Given the description of an element on the screen output the (x, y) to click on. 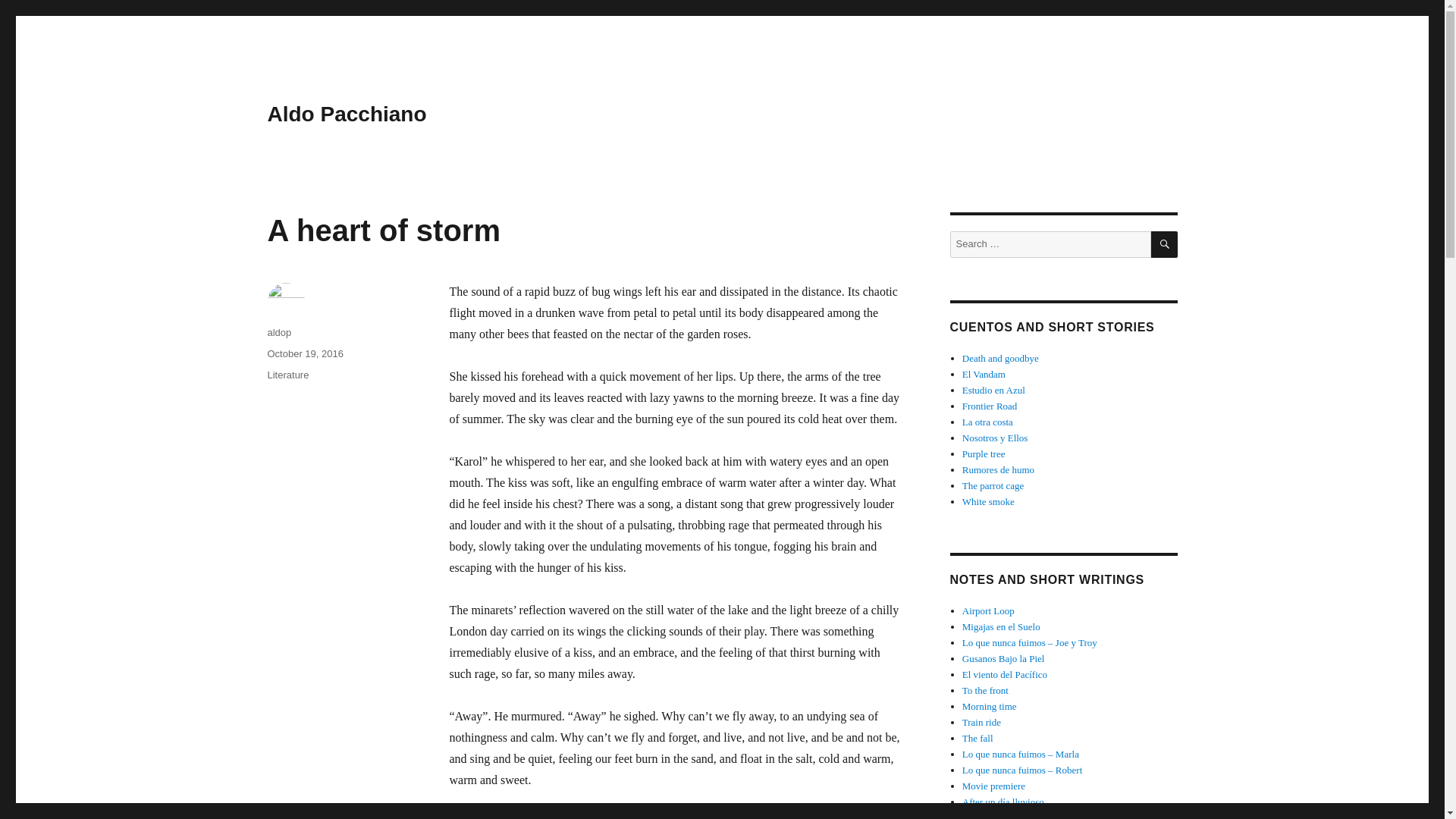
Purple tree (984, 453)
The parrot cage (993, 485)
Aldo Pacchiano (346, 114)
Frontier Road (989, 405)
White smoke (988, 501)
October 19, 2016 (304, 353)
La otra costa (987, 421)
Migajas en el Suelo (1001, 626)
Movie premiere (993, 785)
SEARCH (1164, 243)
Rumores de humo (997, 469)
Gusanos Bajo la Piel (1003, 658)
Estudio en Azul (993, 389)
Morning time (989, 706)
Train ride (981, 722)
